Given the description of an element on the screen output the (x, y) to click on. 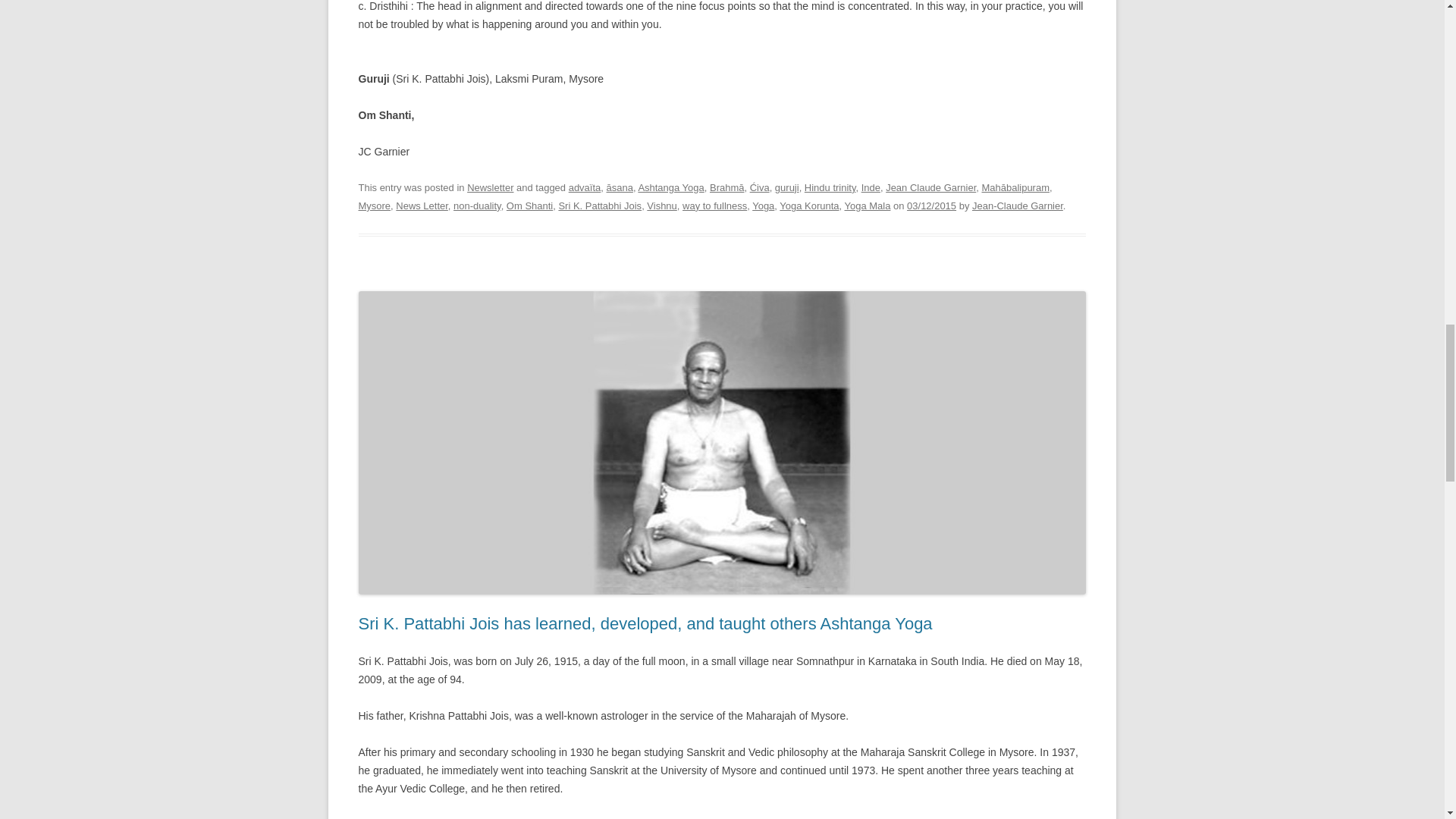
way to fullness (714, 205)
Vishnu (661, 205)
Jean-Claude Garnier (1017, 205)
Hindu trinity (830, 187)
Yoga (763, 205)
Yoga Korunta (808, 205)
View all posts by Jean-Claude Garnier (1017, 205)
guruji (786, 187)
Om Shanti (529, 205)
Mysore (374, 205)
12:24 (931, 205)
non-duality (476, 205)
Newsletter (490, 187)
Ashtanga Yoga (670, 187)
